Given the description of an element on the screen output the (x, y) to click on. 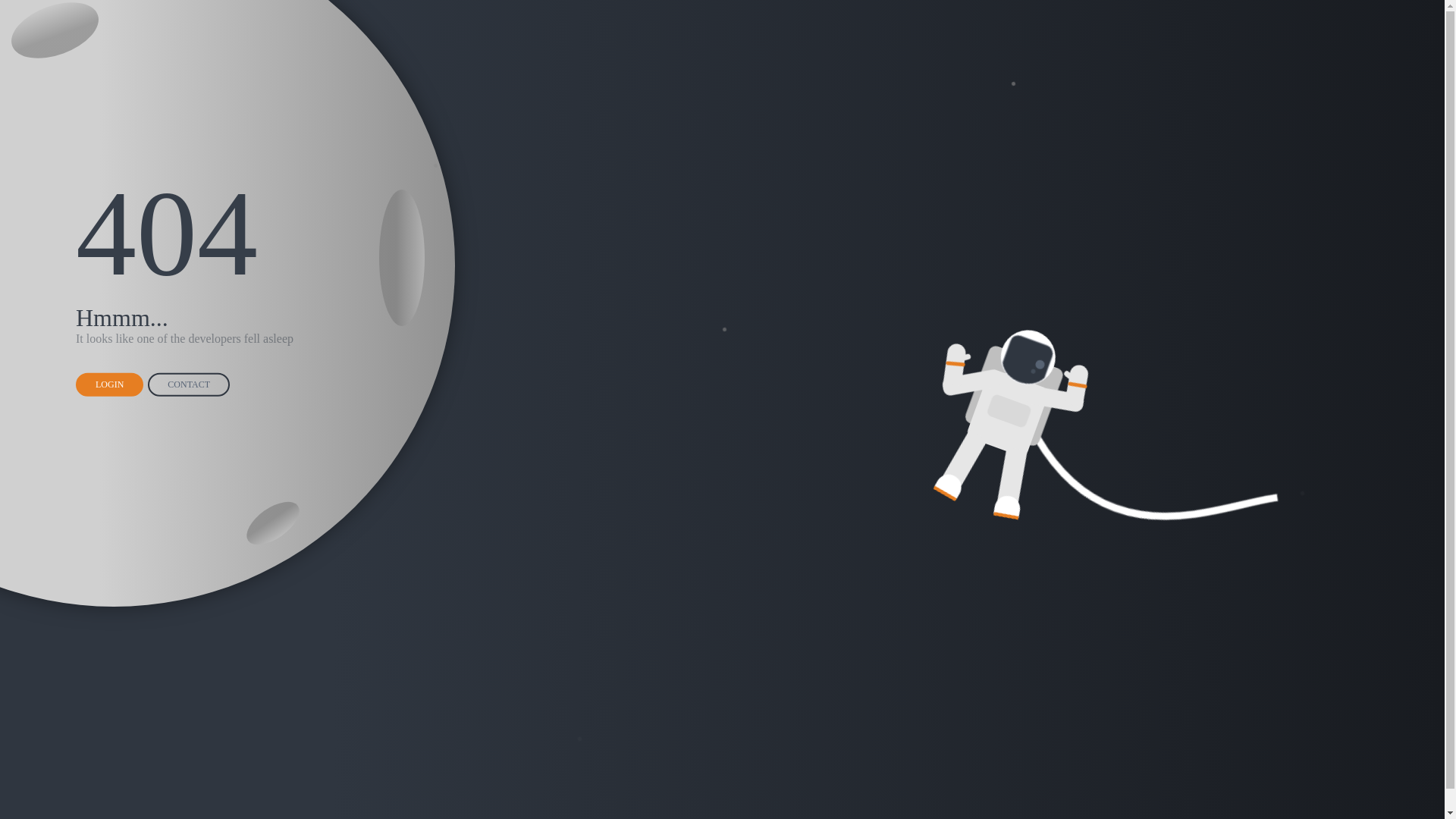
LOGIN Element type: text (109, 384)
CONTACT Element type: text (188, 384)
